Given the description of an element on the screen output the (x, y) to click on. 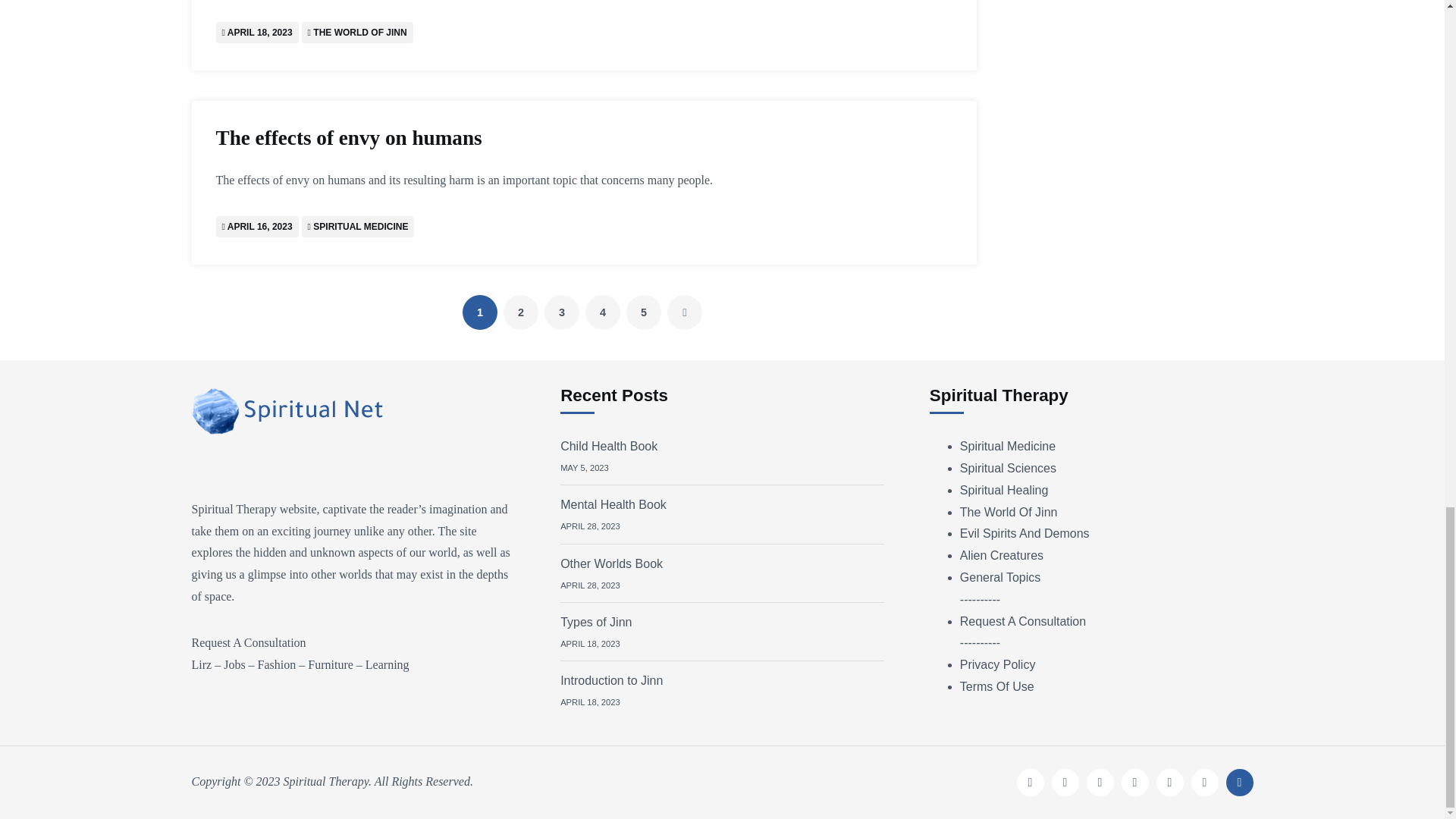
THE WORLD OF JINN (359, 32)
The effects of envy on humans (469, 138)
2 (520, 312)
SPIRITUAL MEDICINE (360, 226)
APRIL 18, 2023 (259, 32)
APRIL 16, 2023 (259, 226)
